Given the description of an element on the screen output the (x, y) to click on. 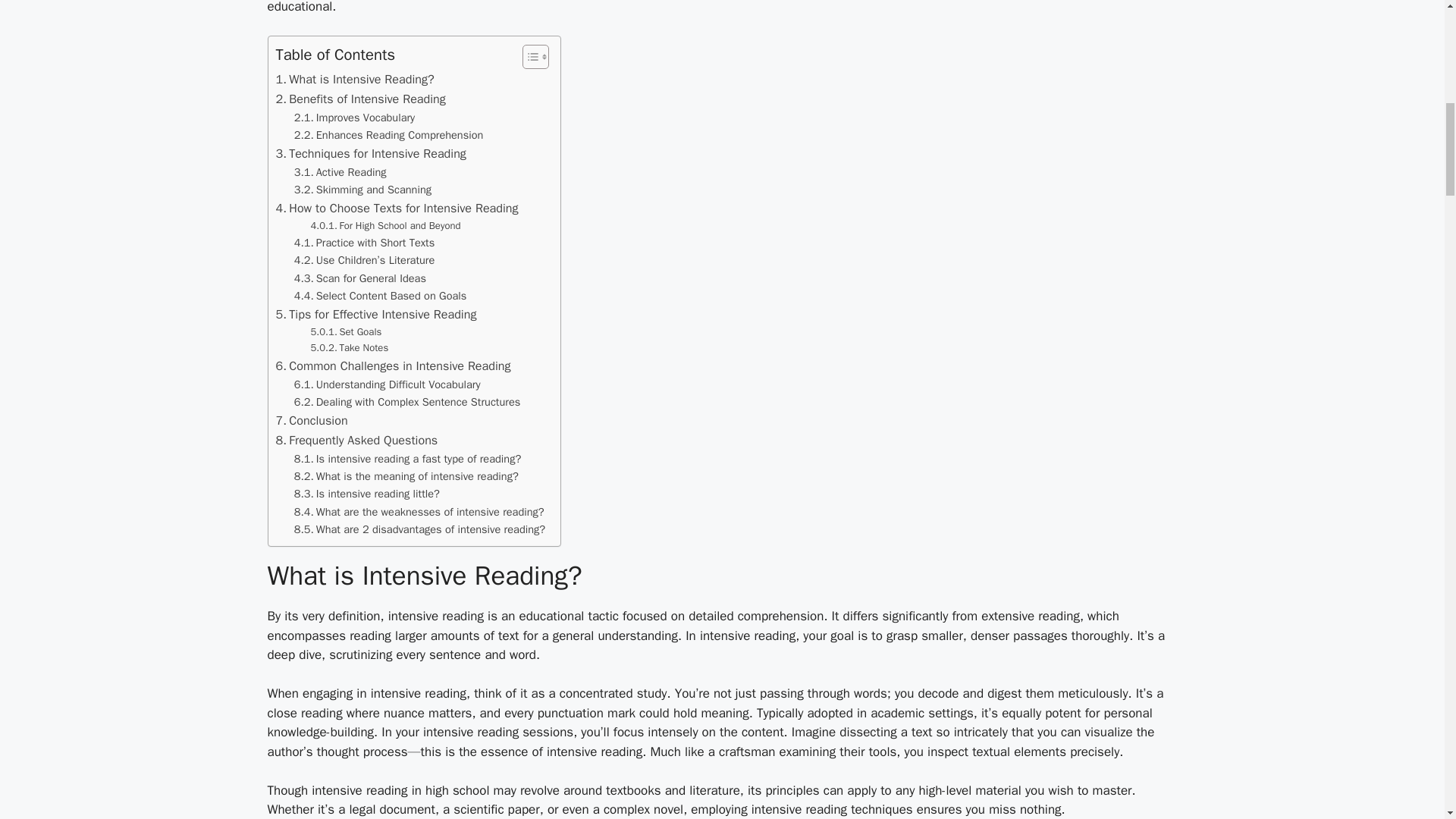
Is intensive reading a fast type of reading? (407, 458)
Practice with Short Texts (364, 242)
Tips for Effective Intensive Reading (376, 314)
Techniques for Intensive Reading (370, 153)
Active Reading (340, 171)
Is intensive reading little? (366, 493)
Benefits of Intensive Reading (360, 98)
Skimming and Scanning (362, 189)
Enhances Reading Comprehension (388, 135)
How to Choose Texts for Intensive Reading (397, 208)
